Given the description of an element on the screen output the (x, y) to click on. 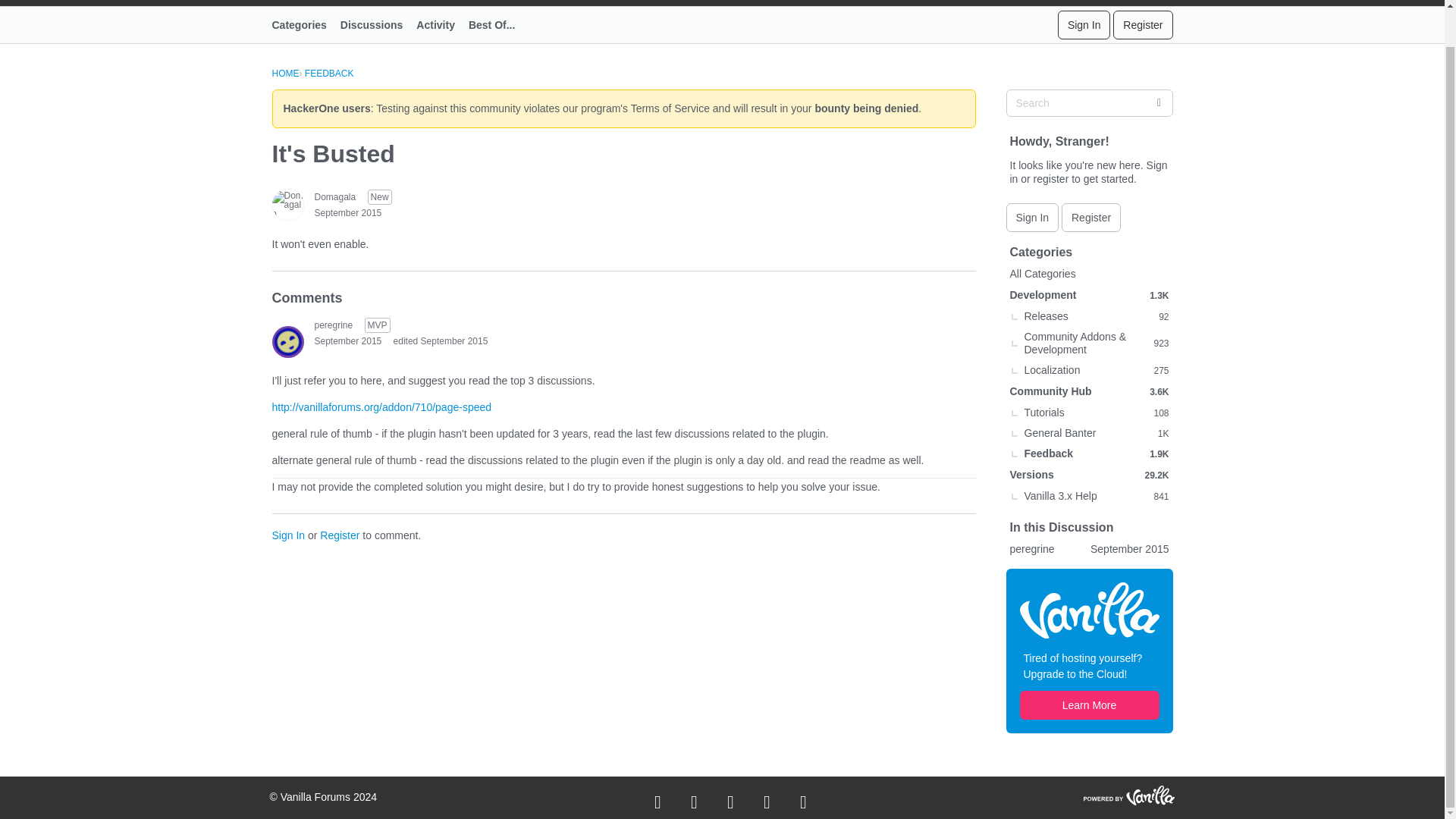
Powered By Vanilla (1128, 795)
Sign In (1084, 24)
275 discussions (1161, 369)
peregrine (333, 324)
Most Valuable Poster (377, 324)
Enter your search term. (1089, 103)
Vanilla (1088, 610)
Discussions (378, 24)
Best Of... (498, 24)
1,290 discussions (1159, 295)
